Given the description of an element on the screen output the (x, y) to click on. 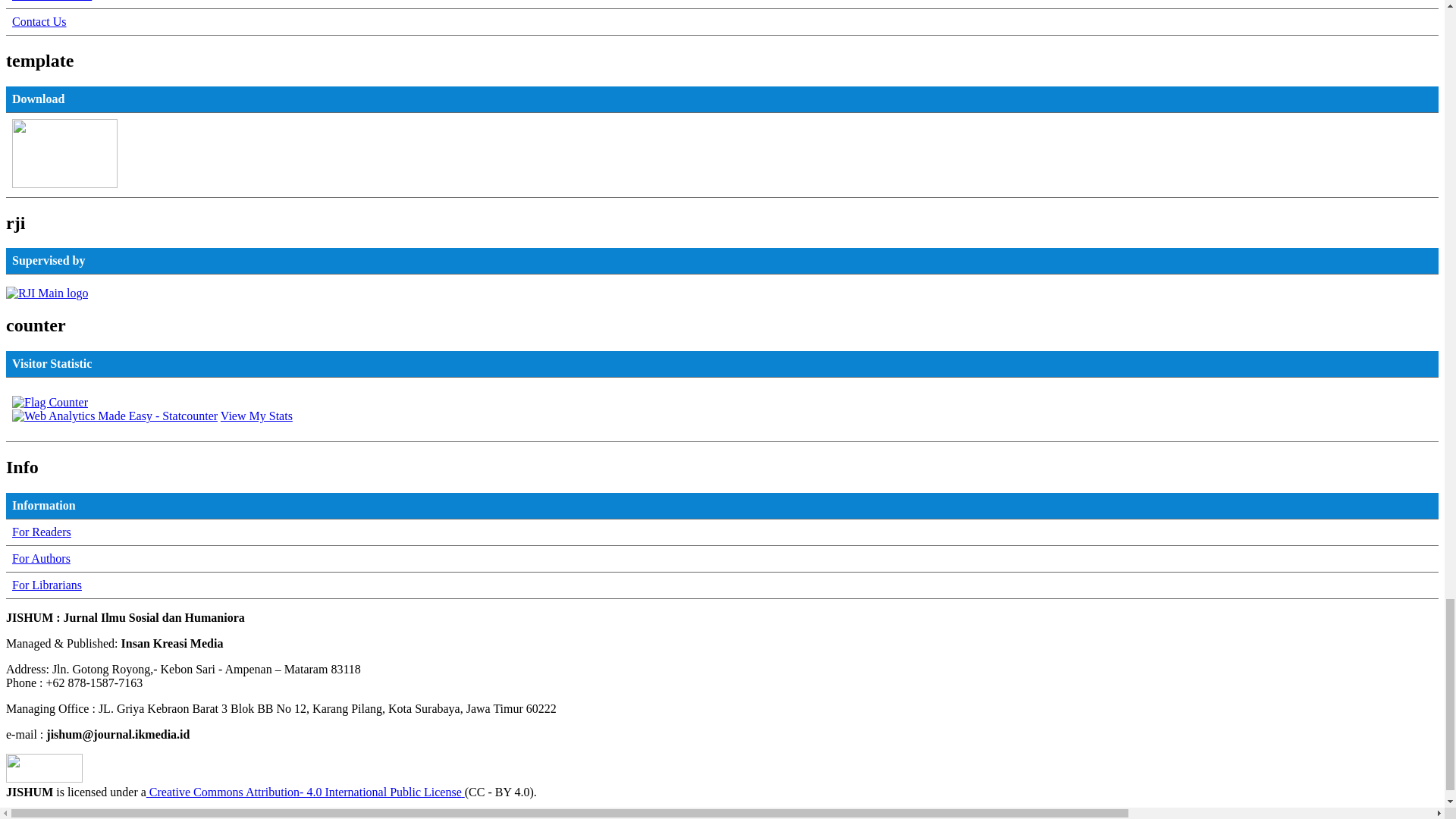
Web Analytics Made Easy - Statcounter (113, 415)
